Given the description of an element on the screen output the (x, y) to click on. 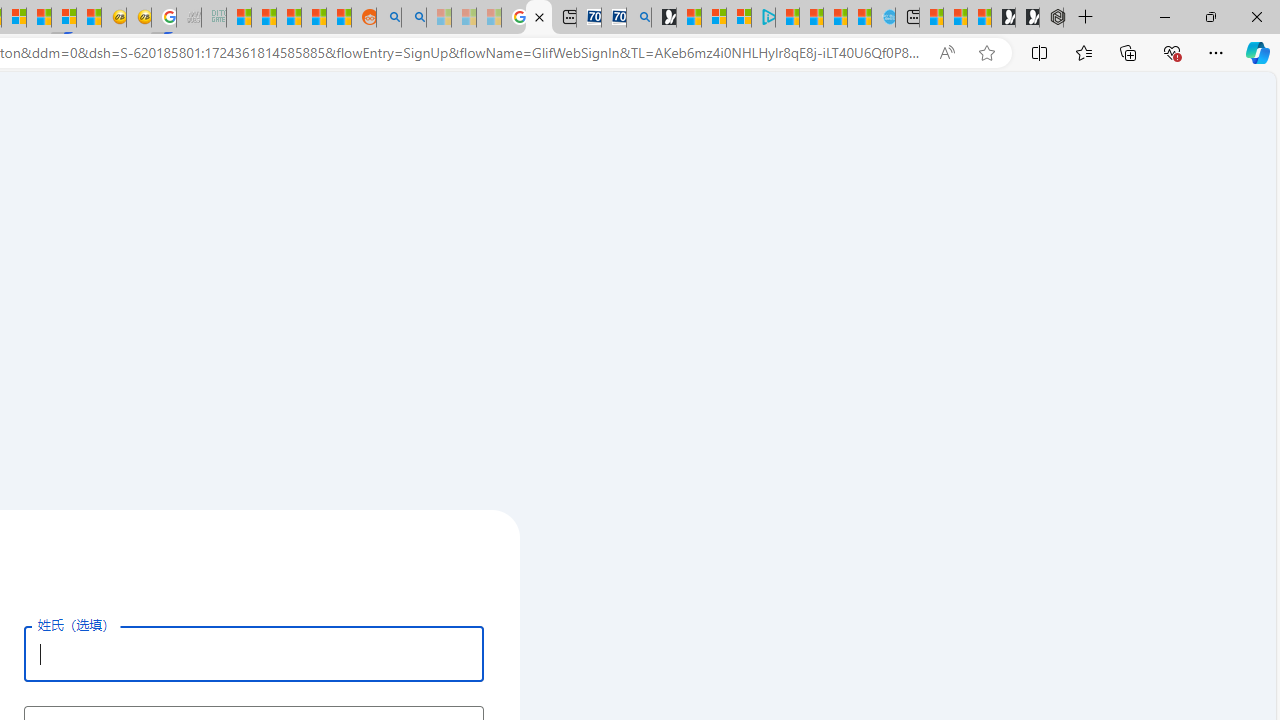
Bing Real Estate - Home sales and rental listings (639, 17)
